Given the description of an element on the screen output the (x, y) to click on. 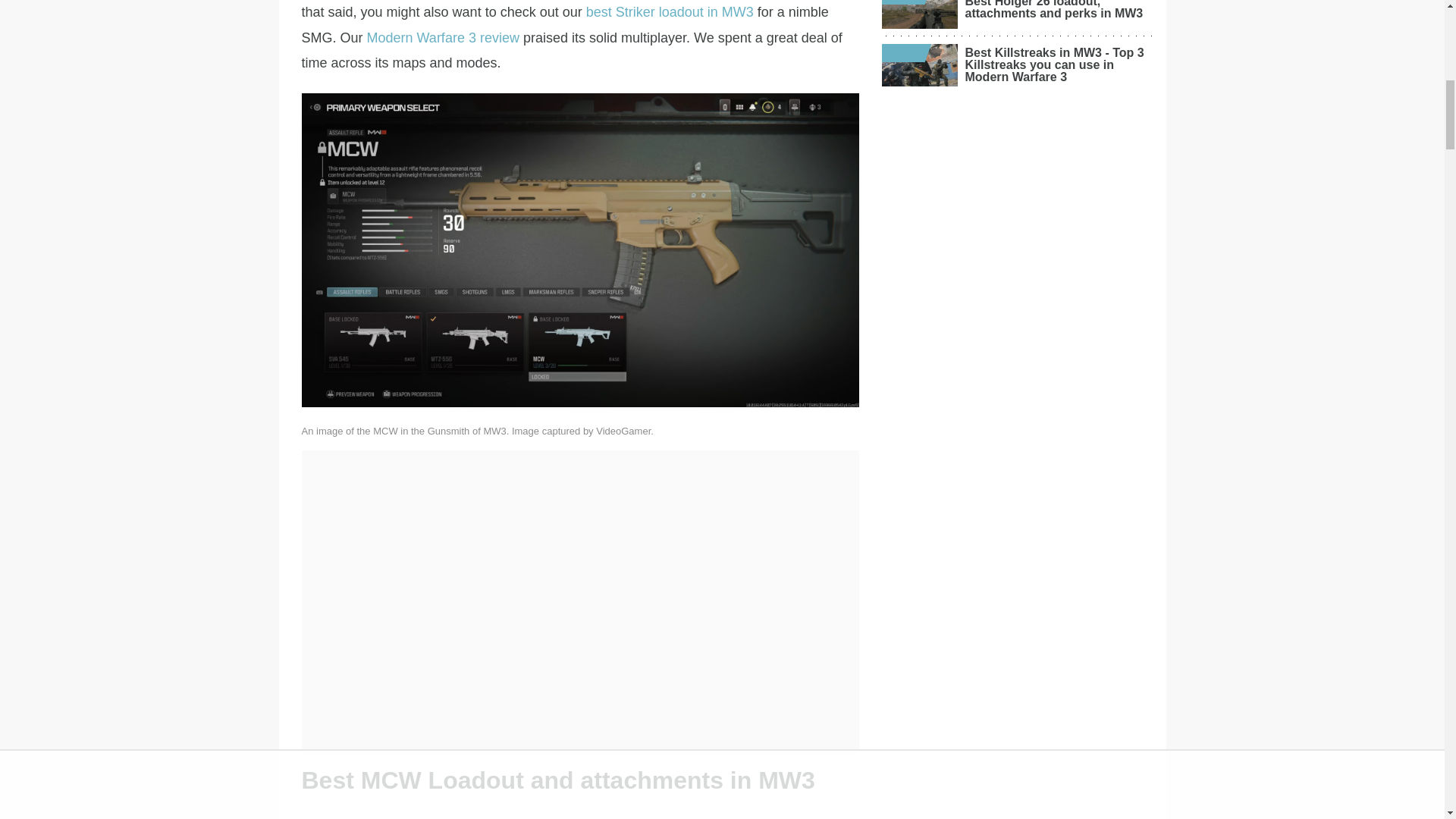
Modern Warfare 3 review (442, 37)
best Striker loadout in MW3 (670, 11)
